Given the description of an element on the screen output the (x, y) to click on. 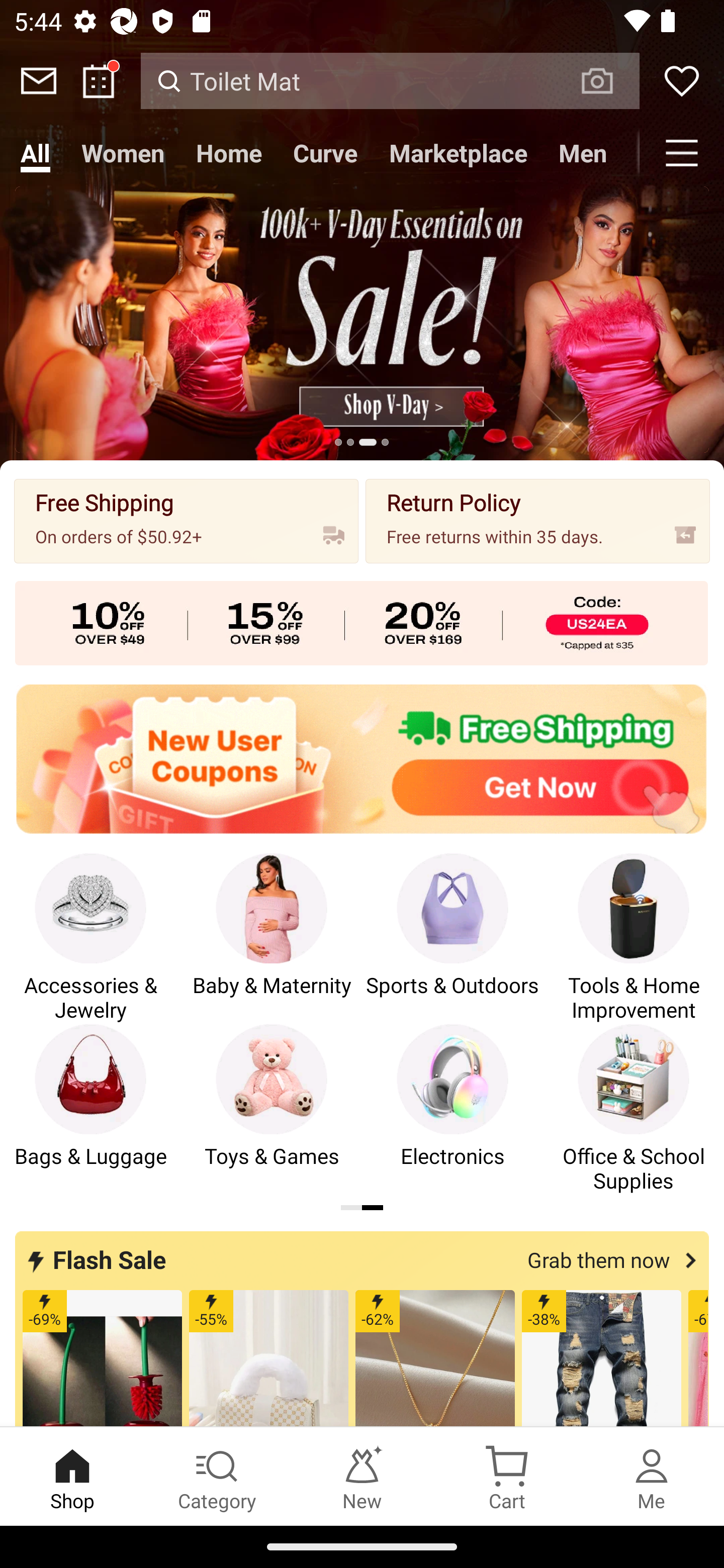
Wishlist (681, 80)
VISUAL SEARCH (607, 81)
All (35, 152)
Women (122, 152)
Home (228, 152)
Curve (325, 152)
Marketplace (458, 152)
Men (582, 152)
Free Shipping On orders of $50.92+ (185, 520)
Return Policy Free returns within 35 days. (537, 520)
Accessories & Jewelry (90, 937)
Baby & Maternity (271, 937)
Sports & Outdoors (452, 937)
Tools & Home Improvement (633, 937)
Bags & Luggage (90, 1108)
Toys & Games (271, 1108)
Electronics (452, 1108)
Office & School Supplies (633, 1108)
Category (216, 1475)
New (361, 1475)
Cart (506, 1475)
Me (651, 1475)
